Given the description of an element on the screen output the (x, y) to click on. 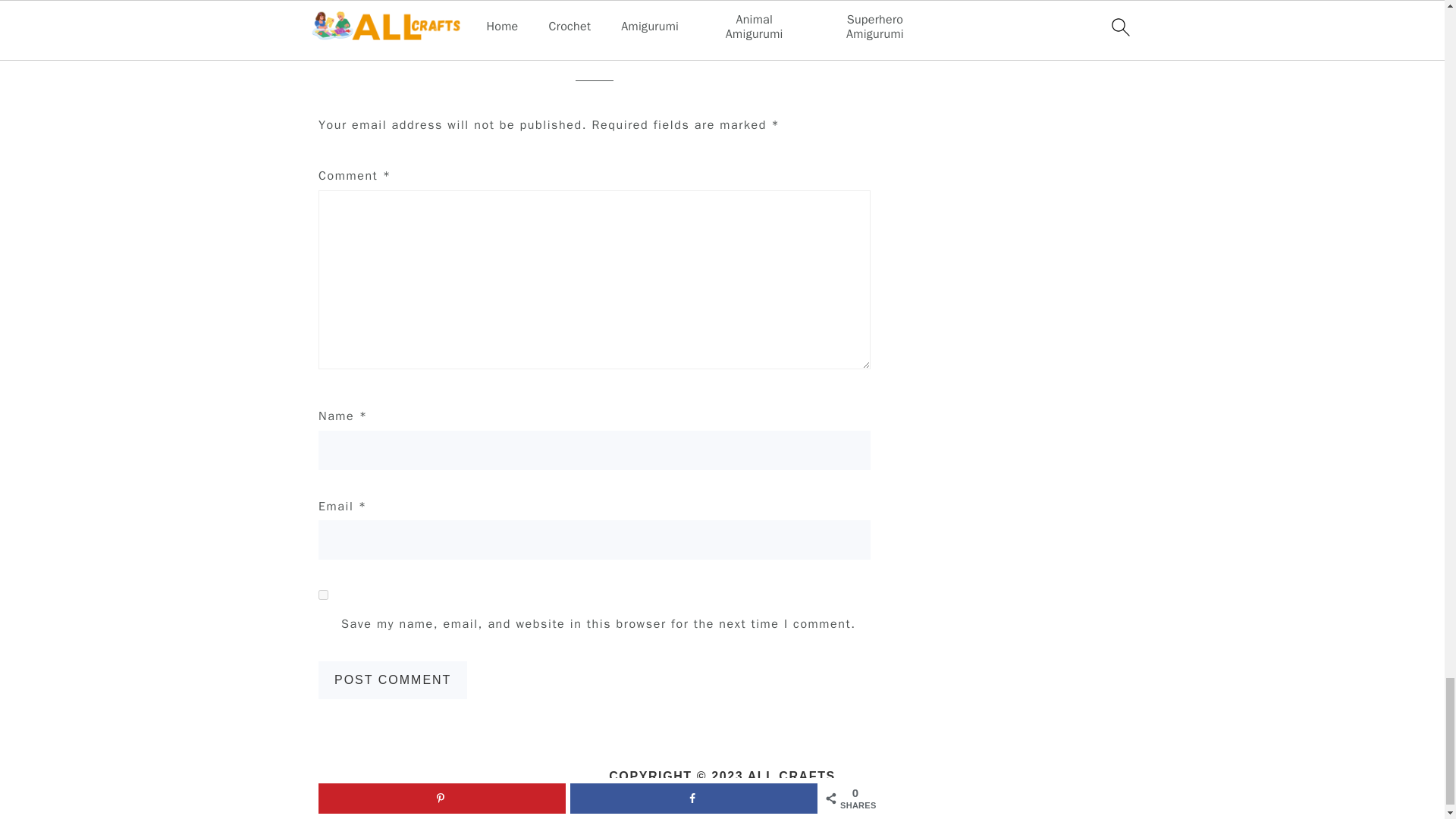
Post Comment (392, 679)
yes (323, 594)
